Given the description of an element on the screen output the (x, y) to click on. 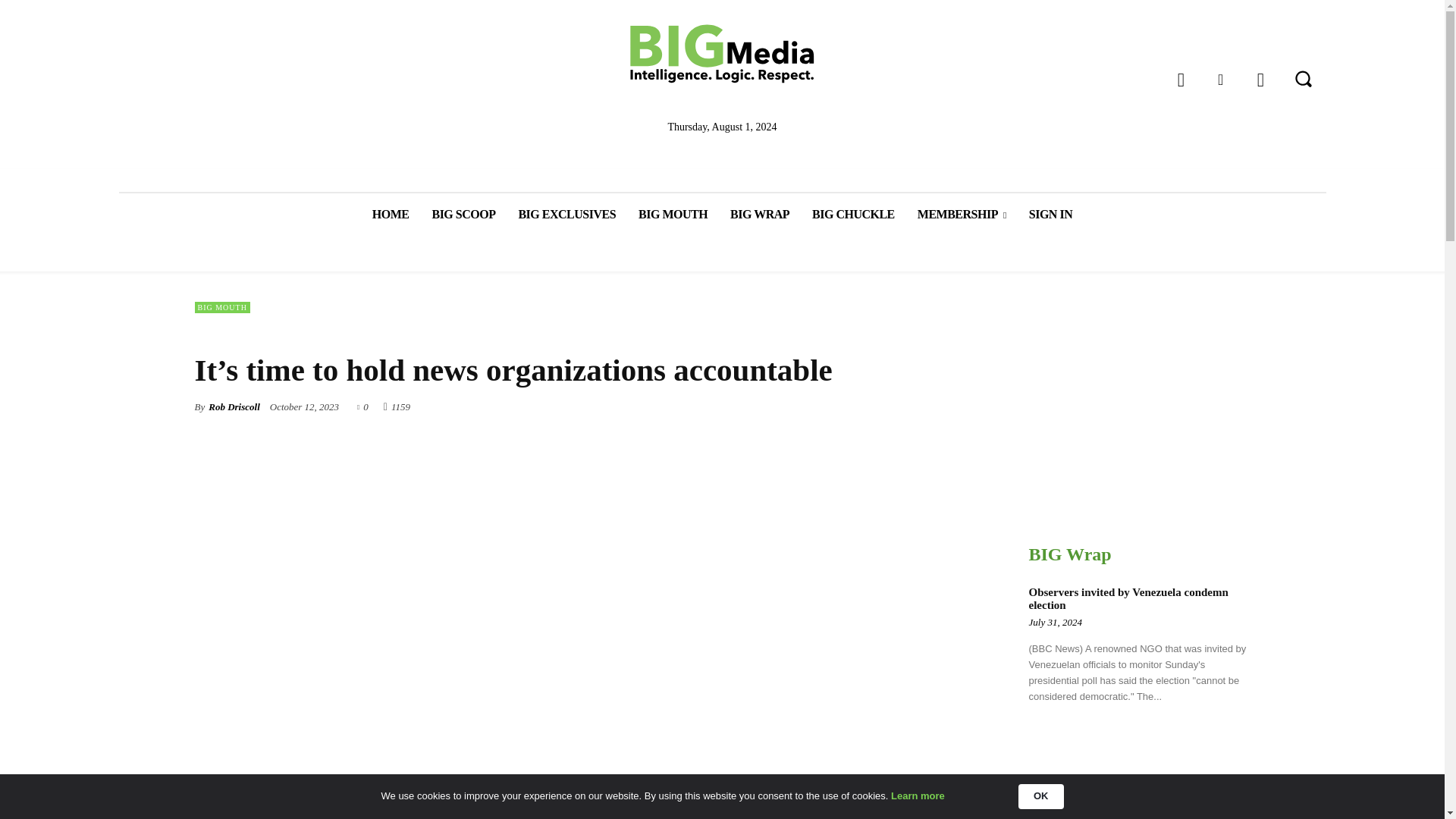
BIG MOUTH (673, 214)
HOME (390, 214)
BIG CHUCKLE (852, 214)
BIG EXCLUSIVES (566, 214)
SIGN IN (1050, 214)
Twitter (1260, 79)
MEMBERSHIP (961, 214)
Linkedin (1220, 79)
BIG SCOOP (463, 214)
Facebook (1180, 79)
BIG WRAP (759, 214)
